Given the description of an element on the screen output the (x, y) to click on. 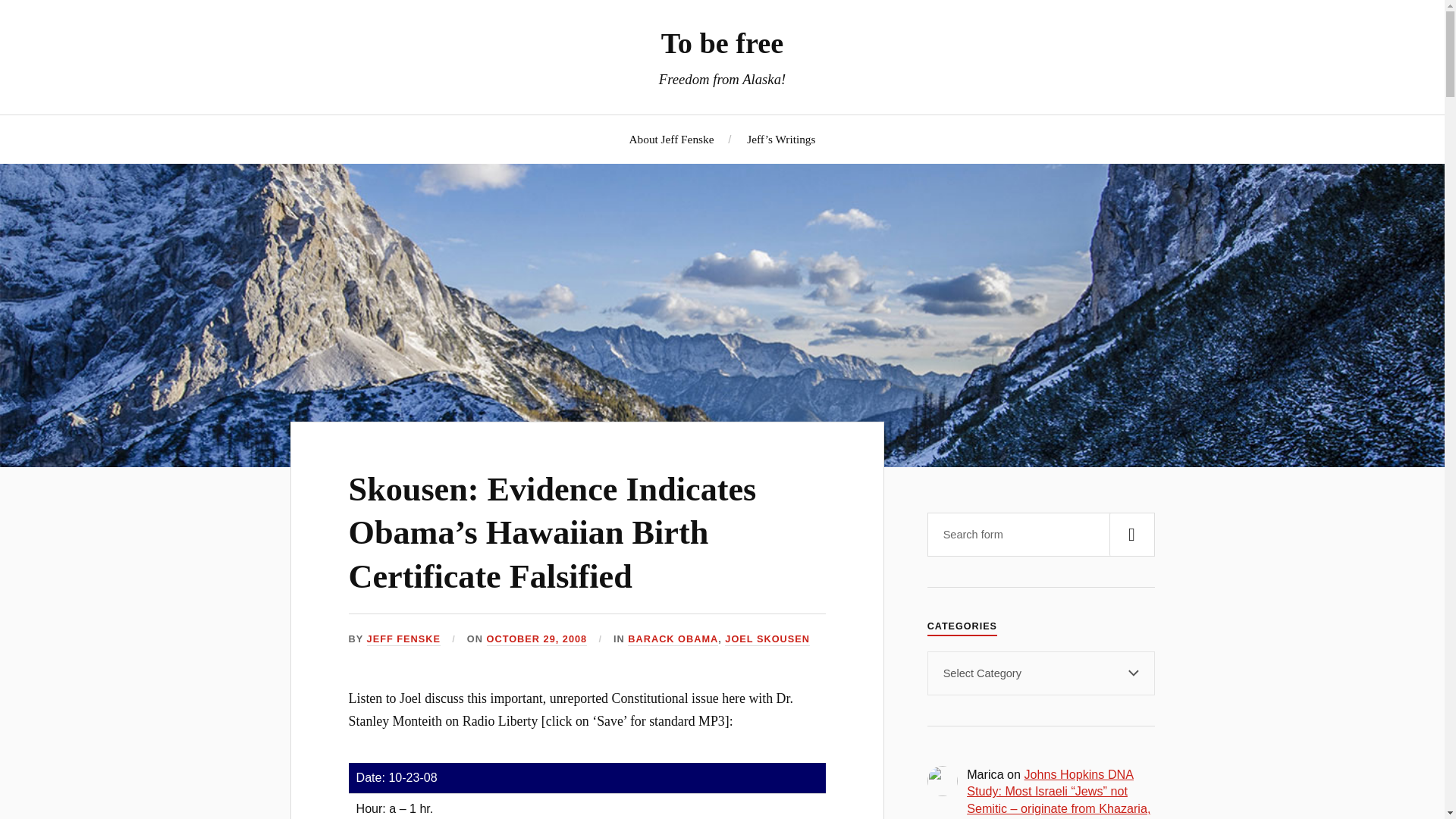
To be free (722, 42)
Posts by Jeff Fenske (403, 639)
About Jeff Fenske (671, 138)
OCTOBER 29, 2008 (537, 639)
JOEL SKOUSEN (767, 639)
JEFF FENSKE (403, 639)
BARACK OBAMA (672, 639)
